Given the description of an element on the screen output the (x, y) to click on. 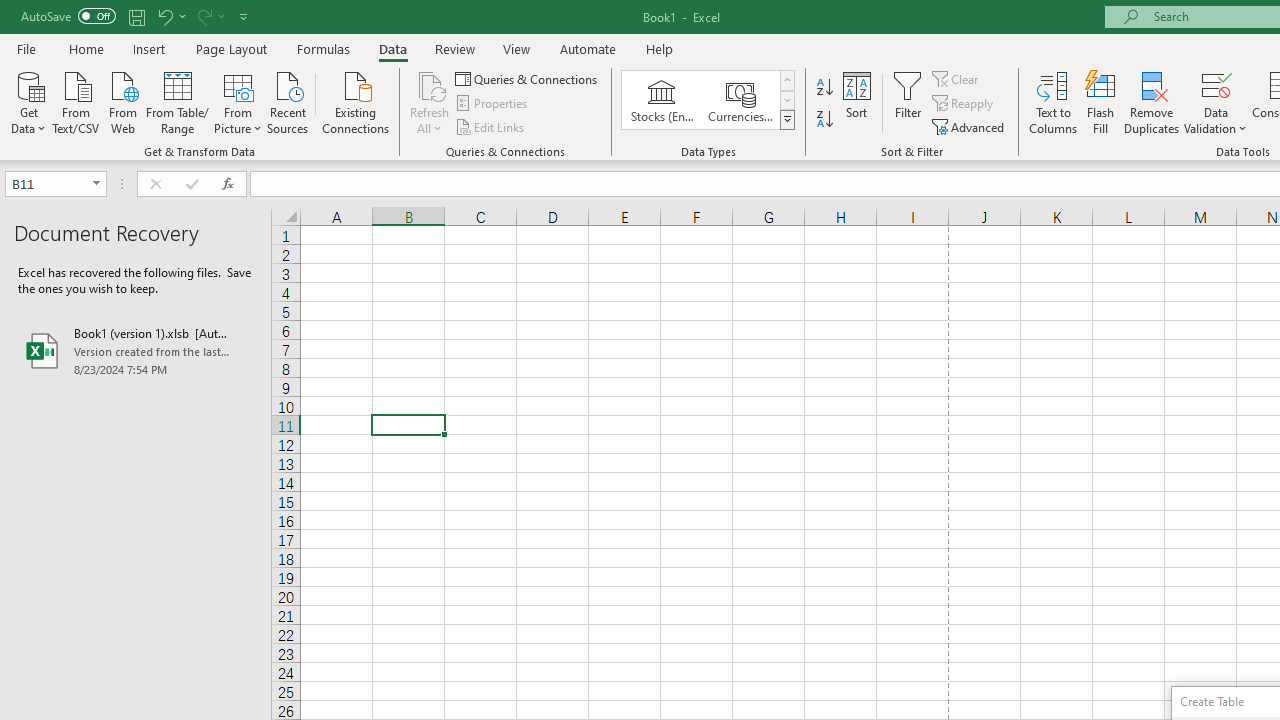
Currencies (English) (740, 100)
Properties (492, 103)
Edit Links (491, 126)
Stocks (English) (662, 100)
Filter (908, 102)
Reapply (964, 103)
